Given the description of an element on the screen output the (x, y) to click on. 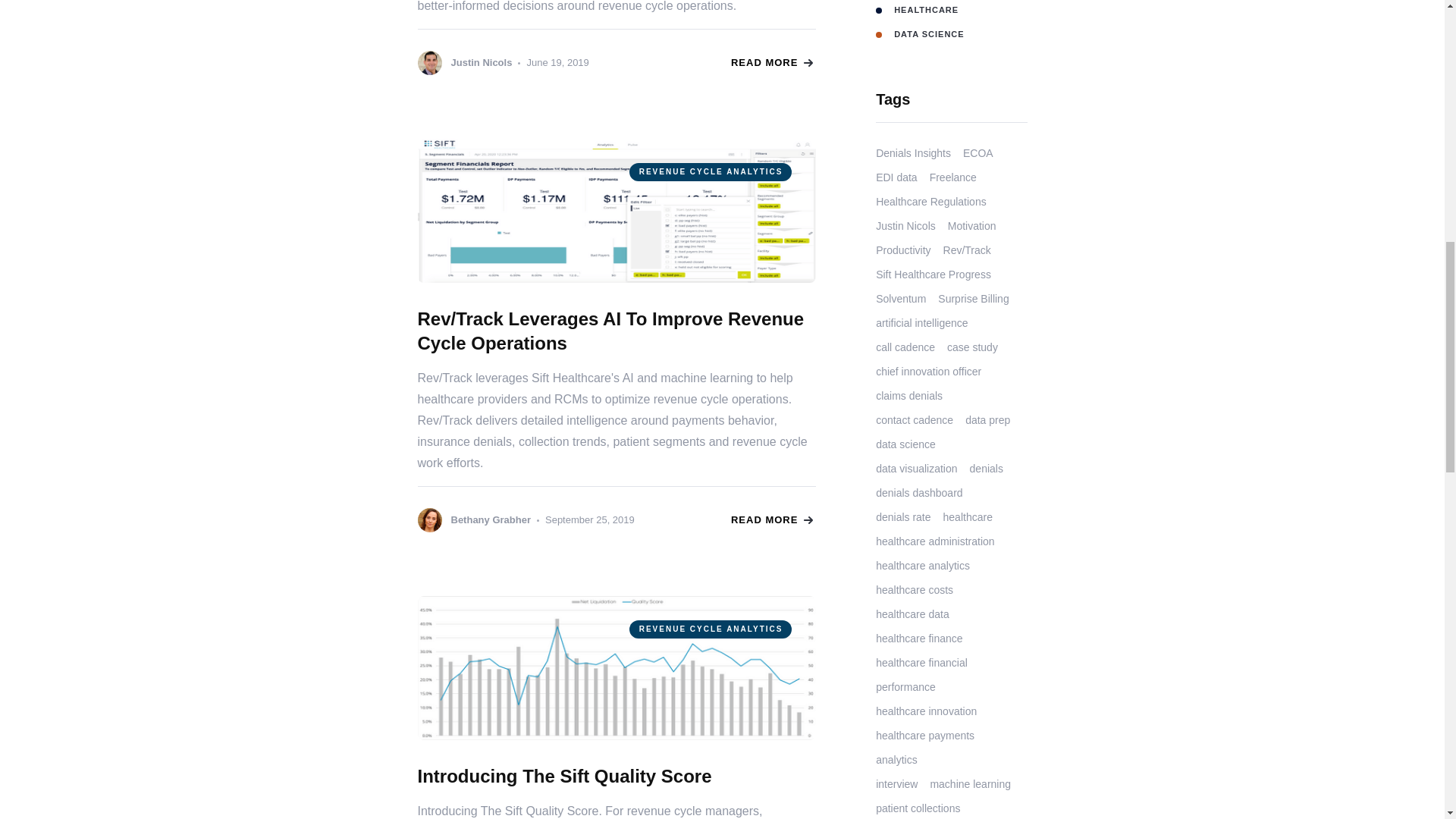
READ MORE (771, 62)
Motivation (971, 225)
HEALTHCARE (951, 11)
READ MORE (771, 520)
REVENUE CYCLE ANALYTICS (615, 210)
Justin Nicols (464, 62)
Bethany Grabher (472, 519)
ECOA (977, 152)
Freelance (953, 177)
Denials Insights (913, 152)
DATA SCIENCE (951, 33)
REVENUE CYCLE ANALYTICS (615, 668)
EDI data (896, 177)
Justin Nicols (906, 225)
Productivity (903, 250)
